Given the description of an element on the screen output the (x, y) to click on. 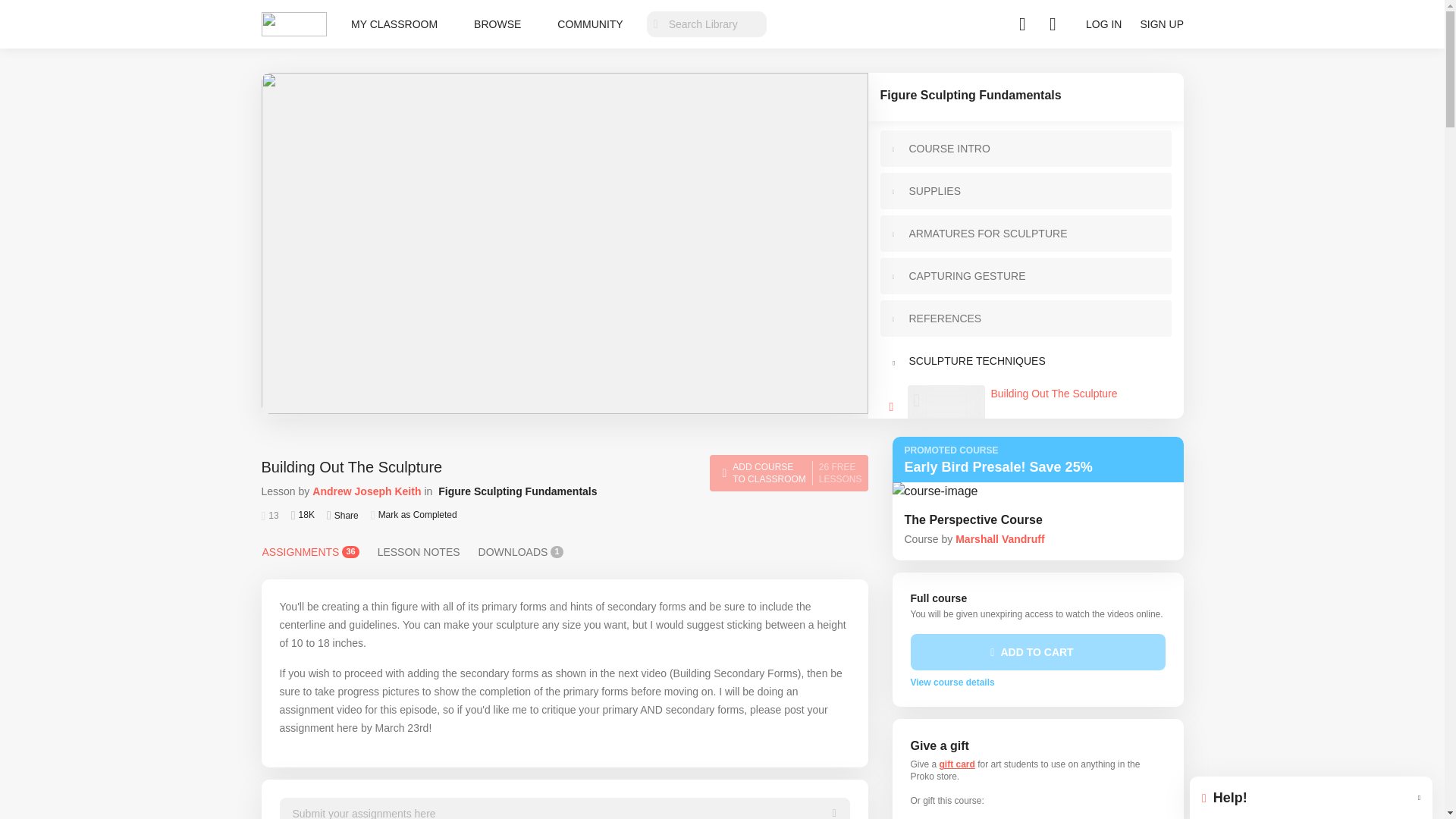
Course Intro (1033, 148)
BROWSE (497, 23)
References (1033, 318)
13 (269, 515)
Figure Sculpting Fundamentals (1024, 96)
Sculpture Techniques (788, 473)
Building Out The Sculpture (1033, 360)
SIGN UP (1080, 402)
Building Out The Sculpture (1161, 24)
Armatures for Sculpture (1024, 406)
LOG IN (521, 552)
COMMUNITY (1033, 233)
